Given the description of an element on the screen output the (x, y) to click on. 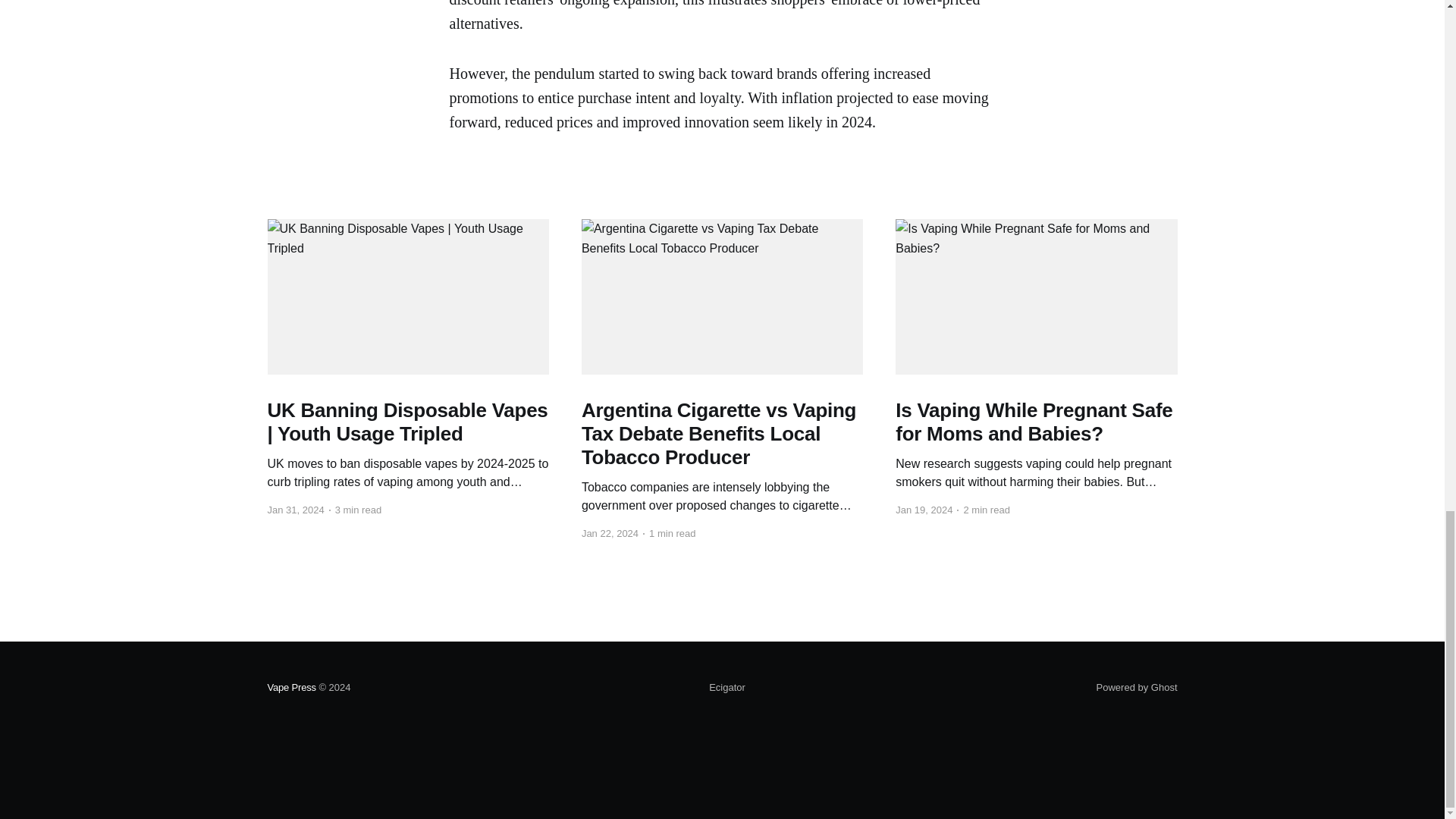
Vape Press (290, 686)
Powered by Ghost (1136, 686)
Ecigator (727, 687)
